Given the description of an element on the screen output the (x, y) to click on. 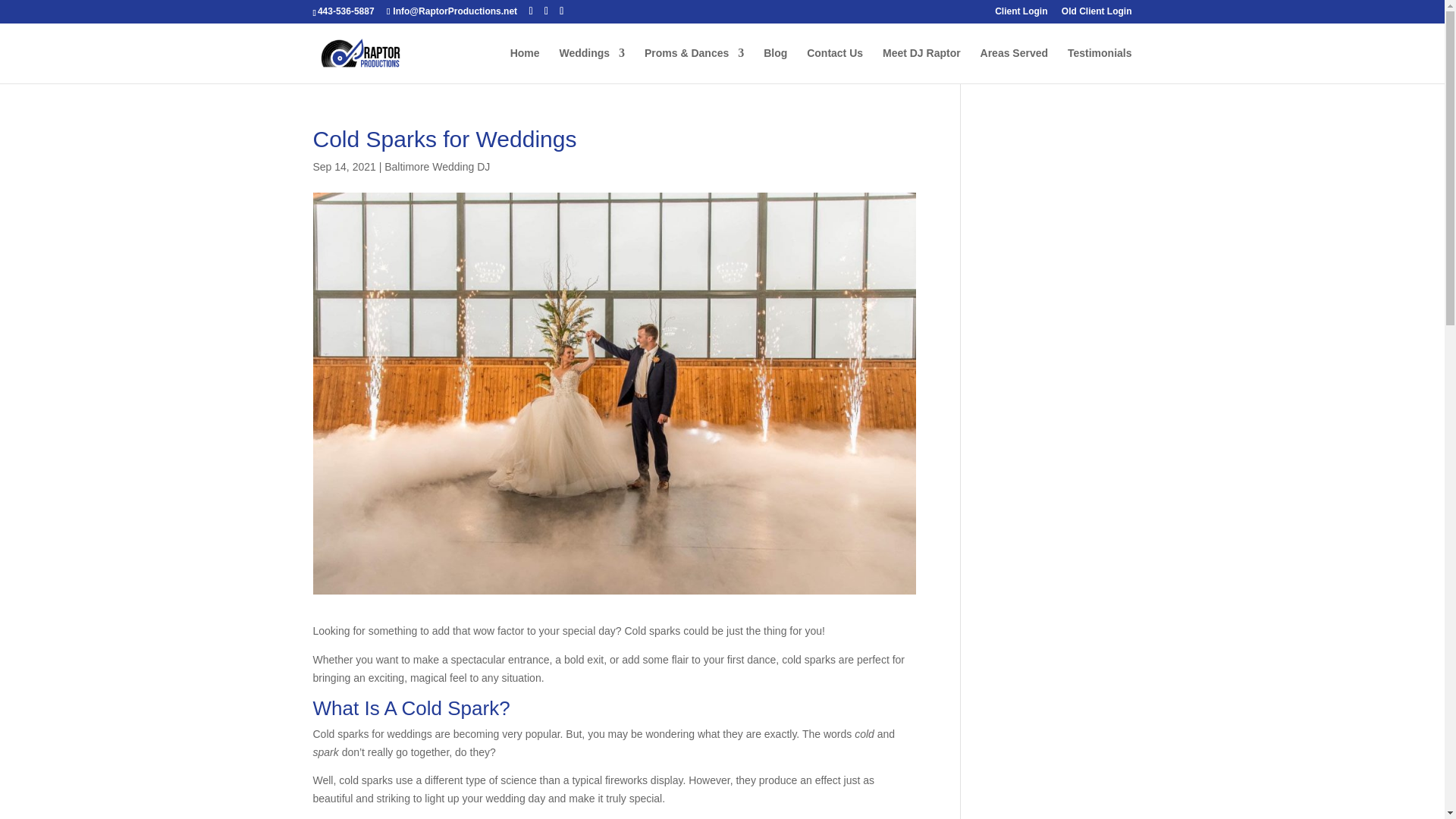
Areas Served (1013, 65)
Testimonials (1099, 65)
Weddings (591, 65)
Old Client Login (1096, 14)
Contact Us (834, 65)
Client Login (1020, 14)
Baltimore Wedding DJ (436, 166)
Meet DJ Raptor (921, 65)
